Given the description of an element on the screen output the (x, y) to click on. 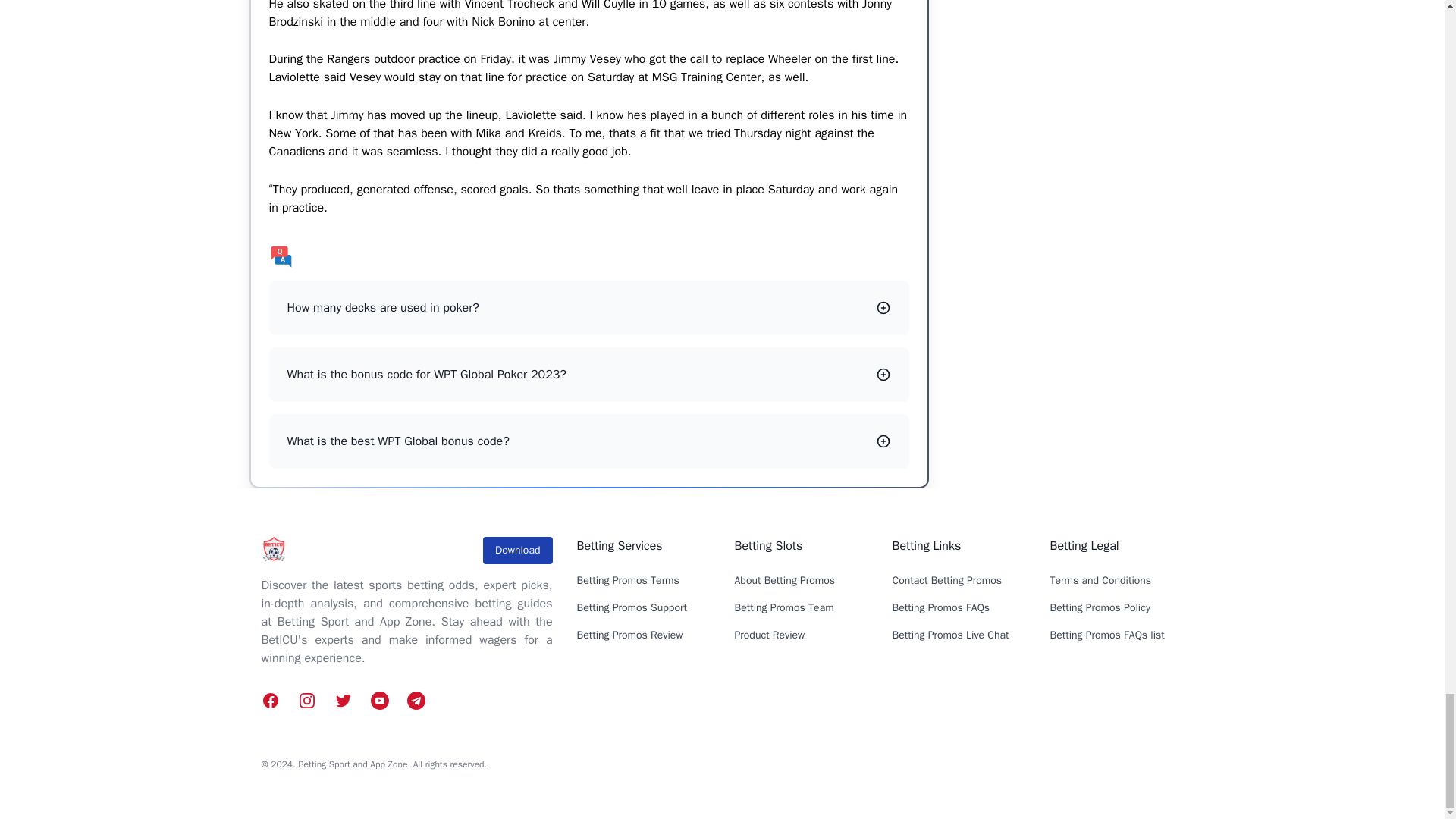
FAQs list (587, 256)
